Given the description of an element on the screen output the (x, y) to click on. 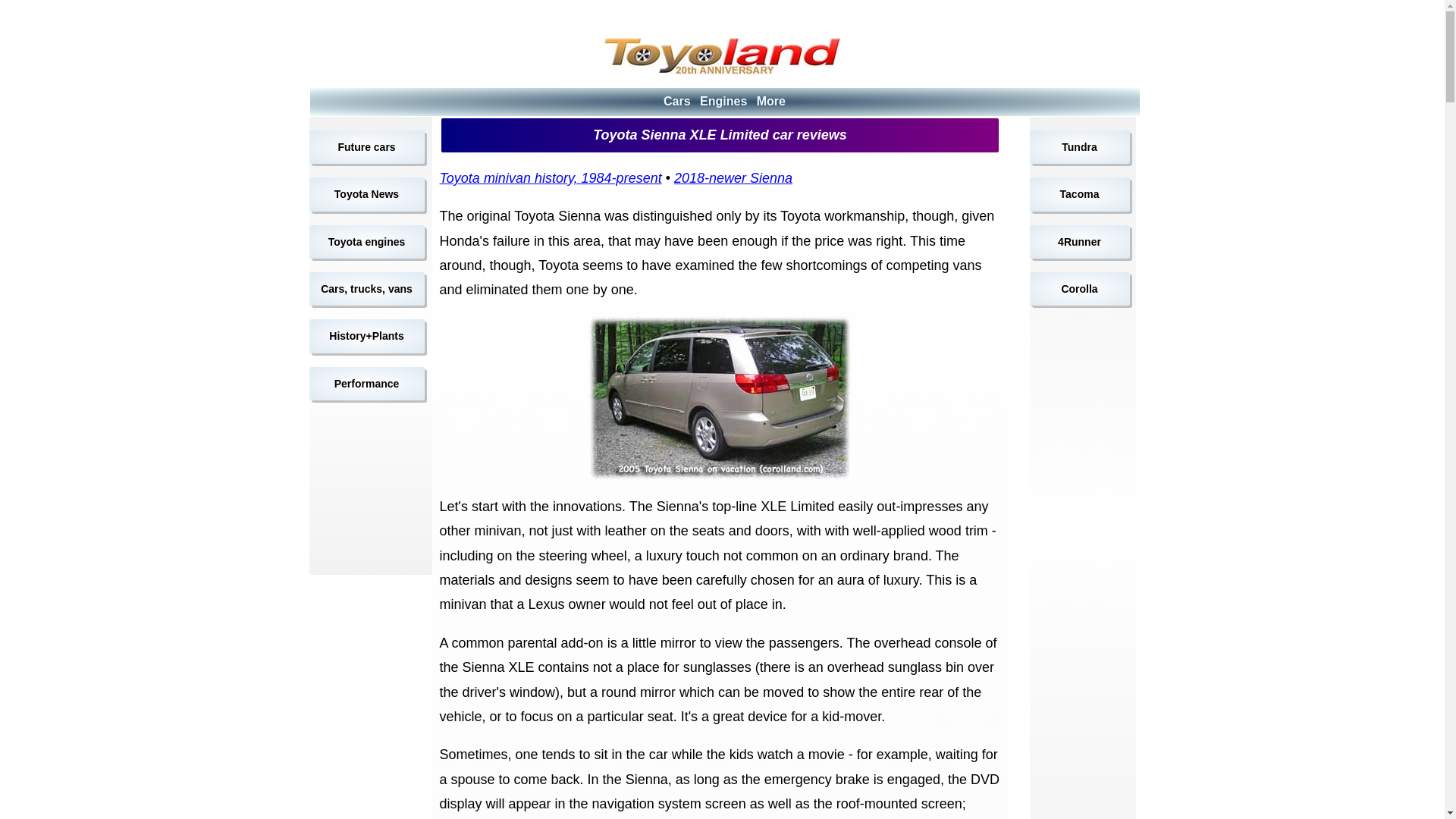
2018-newer Sienna (733, 177)
Future cars (366, 146)
Toyota News (366, 193)
Performance (366, 383)
Toyota engines (366, 241)
Cars (676, 101)
Tundra (1079, 146)
Corolla (1079, 288)
More (771, 101)
Cars, trucks, vans (366, 288)
